Given the description of an element on the screen output the (x, y) to click on. 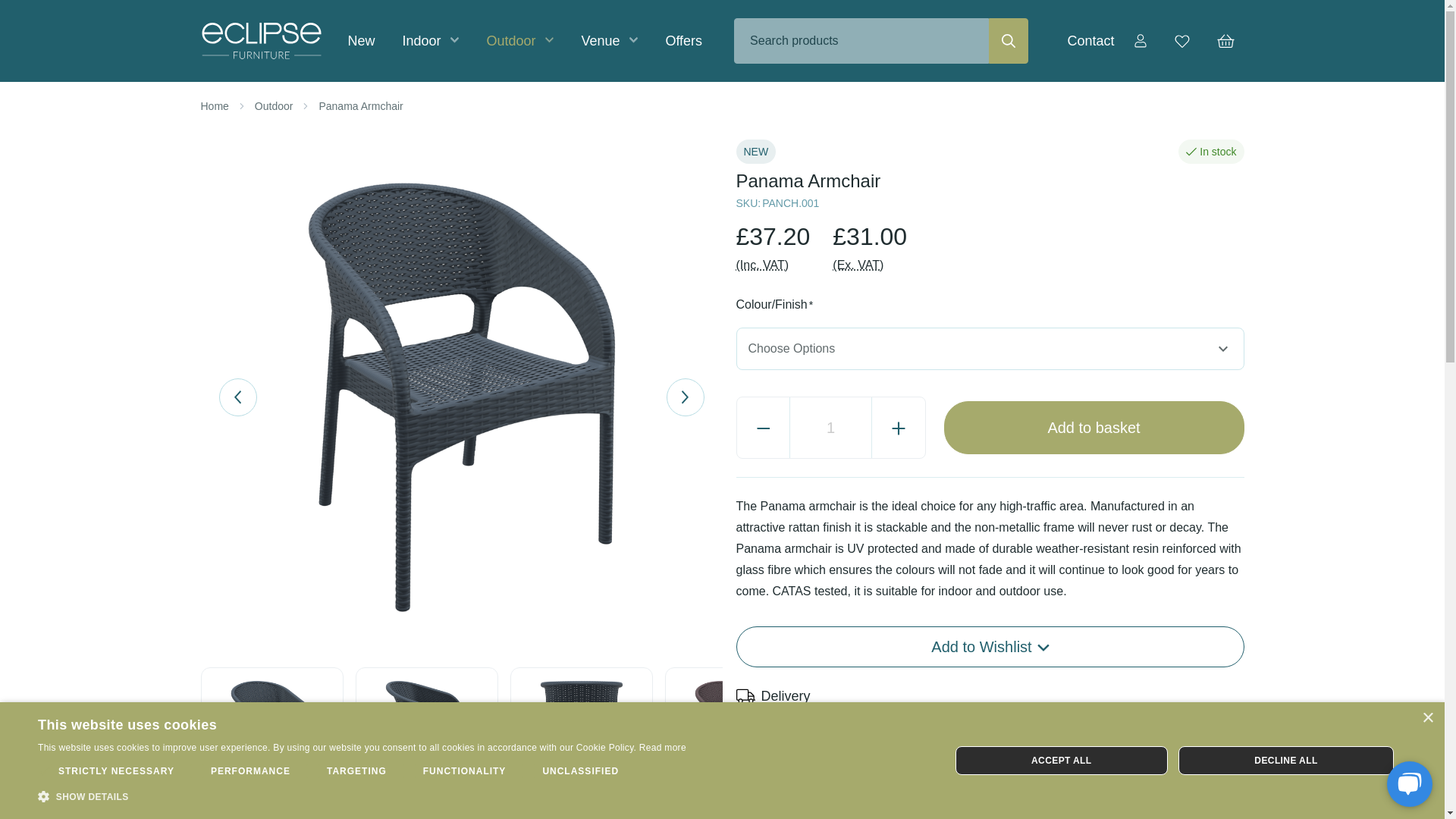
Panama Armchair (581, 738)
New (360, 41)
Venue (608, 41)
Offers (683, 41)
Contact (1091, 40)
ZA.6704C (735, 738)
Outdoor (519, 41)
Panama Armchair (426, 738)
Panama Armchair (272, 738)
Indoor (429, 41)
Including Tax (762, 264)
